Given the description of an element on the screen output the (x, y) to click on. 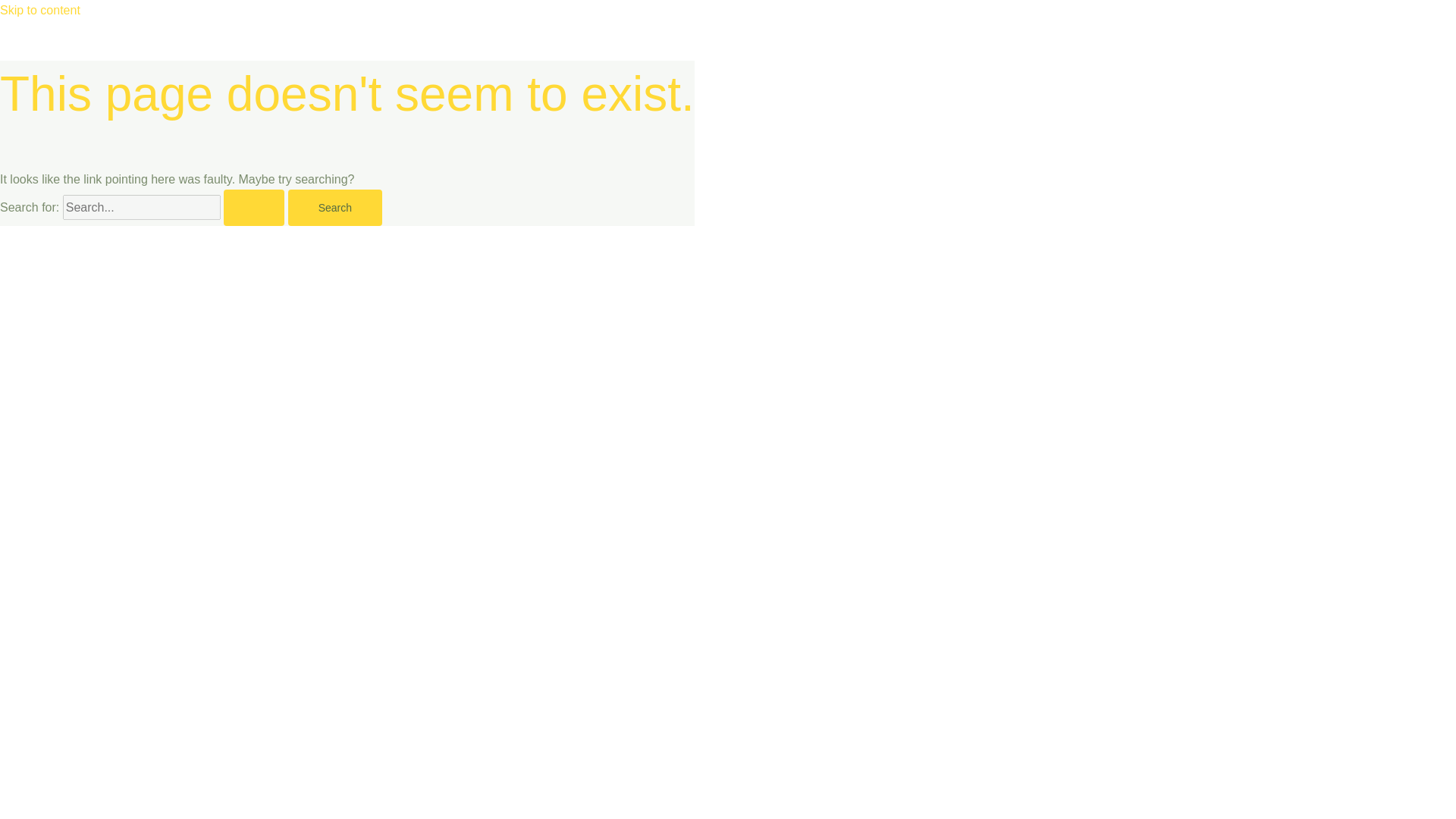
Search (334, 207)
Skip to content (40, 10)
Search (334, 207)
Search (334, 207)
Skip to content (40, 10)
